Given the description of an element on the screen output the (x, y) to click on. 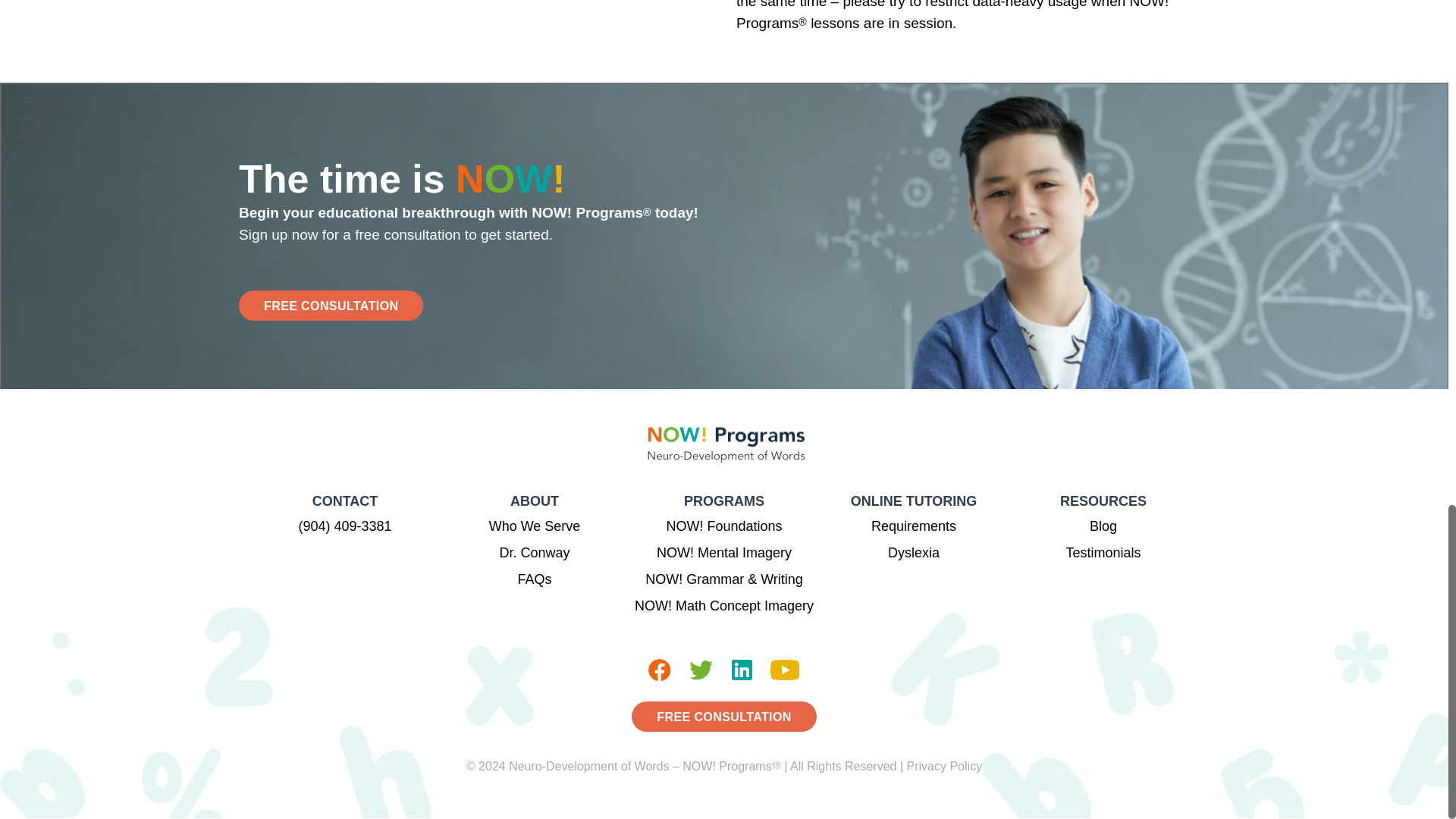
Requirements (913, 525)
NOW! Math Concept Imagery (723, 605)
FREE CONSULTATION (330, 305)
Dr. Conway (534, 552)
PROGRAMS (723, 501)
NOW! Mental Imagery (724, 552)
Blog (1102, 525)
ABOUT (533, 501)
Dyslexia (913, 552)
Who We Serve (534, 525)
NOW! Foundations (723, 525)
ONLINE TUTORING (913, 501)
CONTACT (344, 501)
FAQs (533, 579)
